Given the description of an element on the screen output the (x, y) to click on. 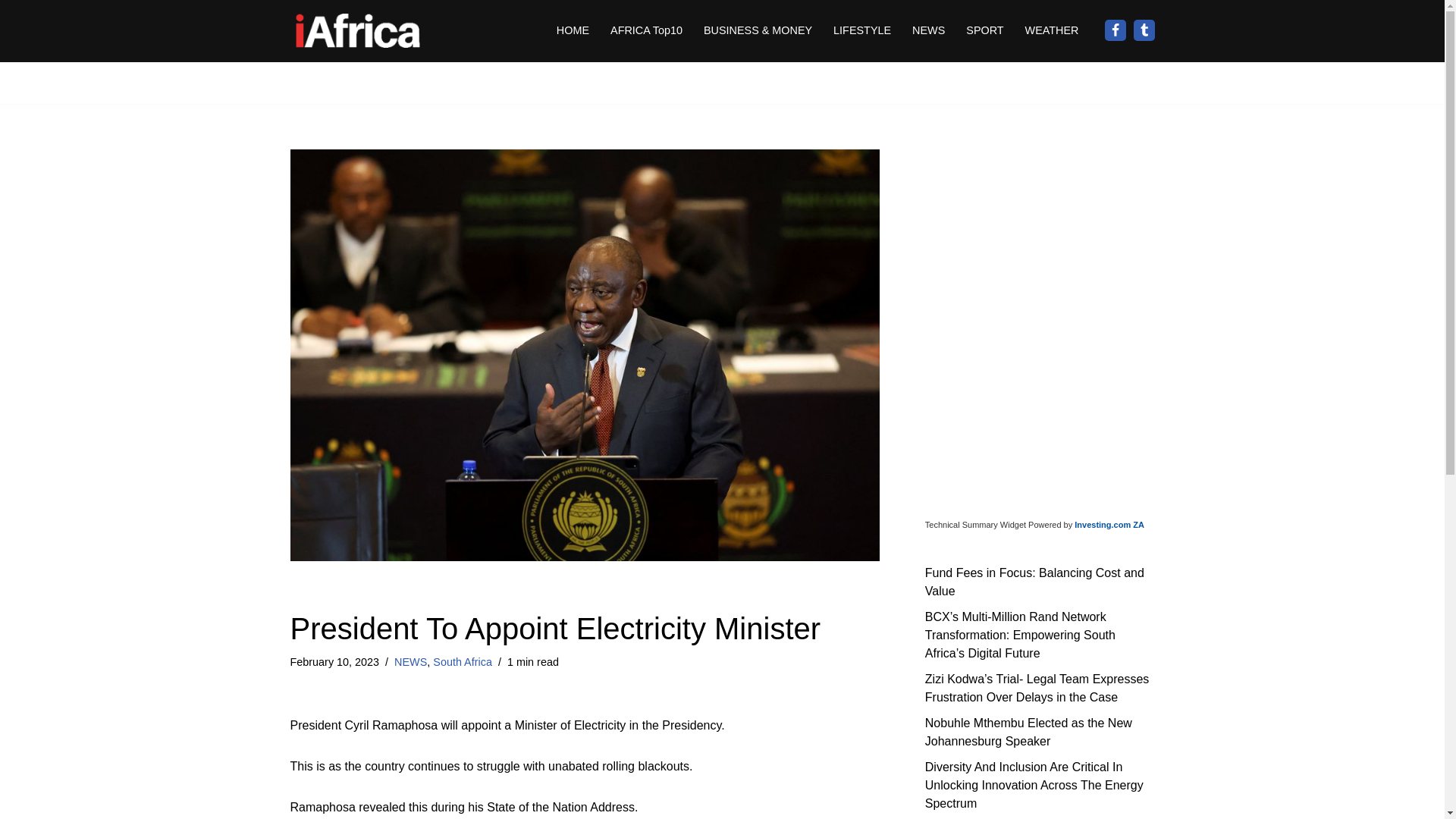
Twitter (1143, 29)
SPORT (984, 30)
South Africa (462, 662)
Fund Fees in Focus: Balancing Cost and Value (1034, 581)
HOME (572, 30)
NEWS (410, 662)
Facebook (1114, 29)
Nobuhle Mthembu Elected as the New Johannesburg Speaker (1028, 730)
NEWS (928, 30)
